Given the description of an element on the screen output the (x, y) to click on. 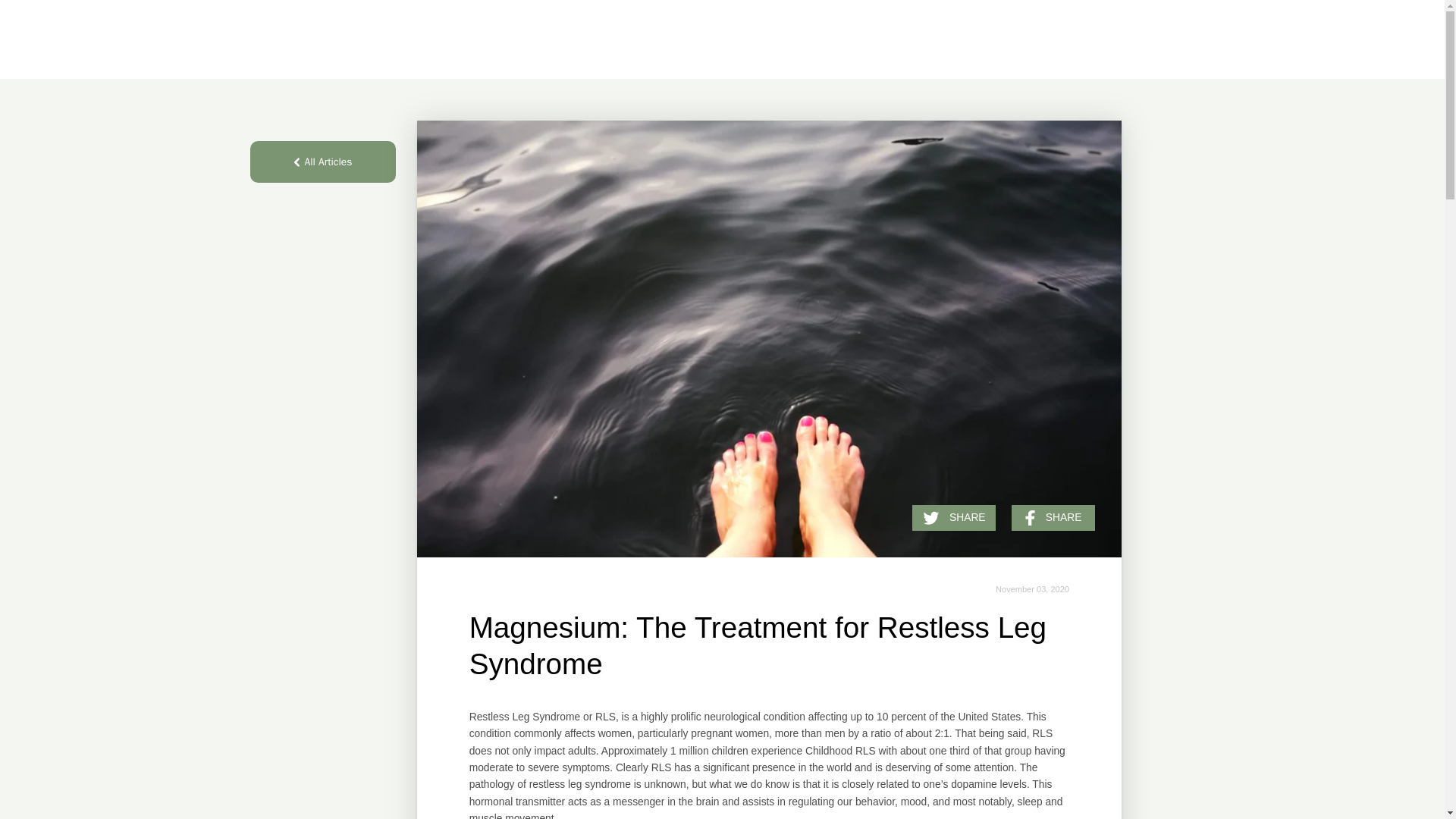
SHARE (1052, 517)
SHARE (953, 517)
